Given the description of an element on the screen output the (x, y) to click on. 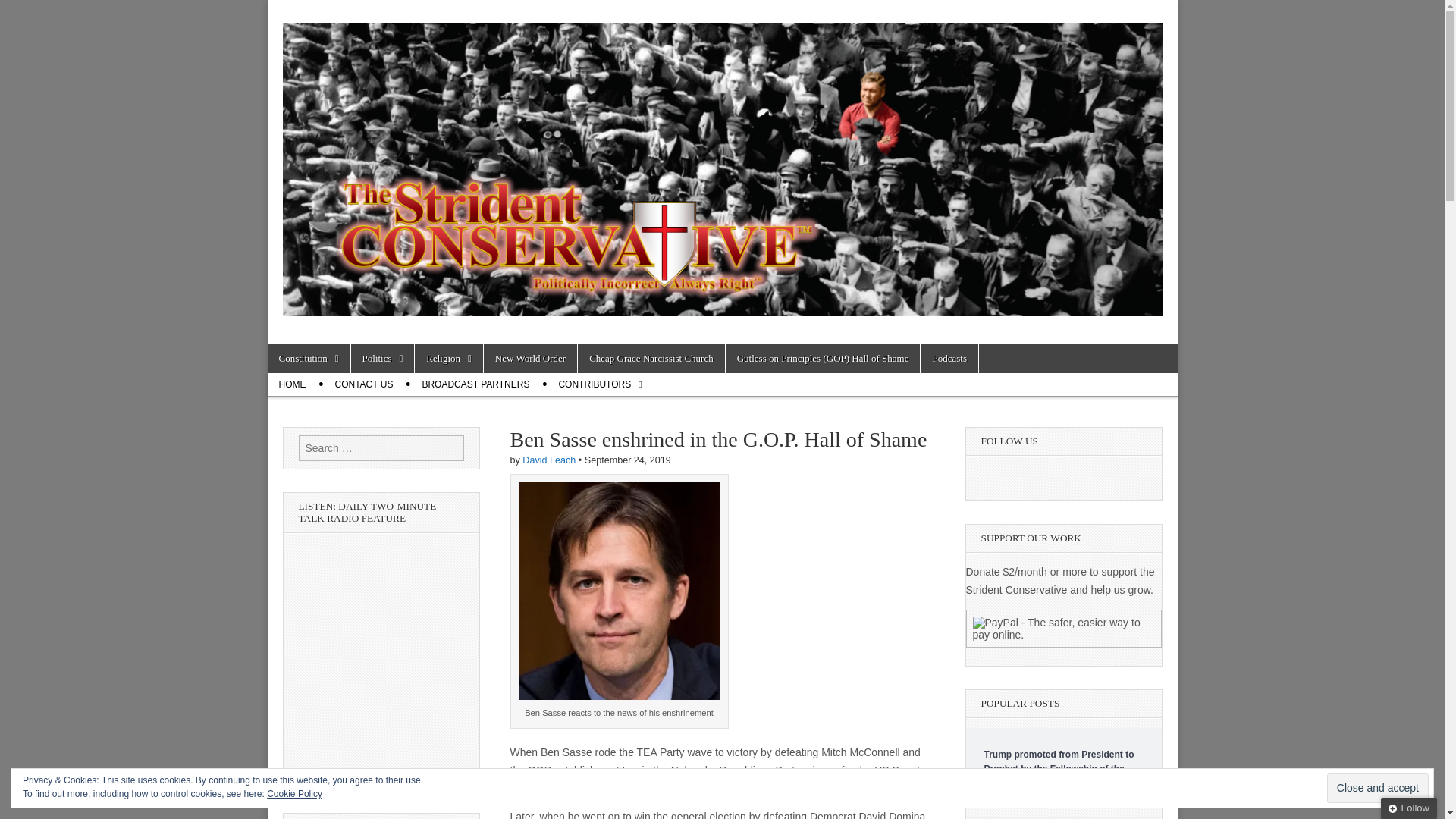
Posts by David Leach (548, 460)
Politics (382, 358)
Constitution (307, 358)
Close and accept (1377, 788)
